Given the description of an element on the screen output the (x, y) to click on. 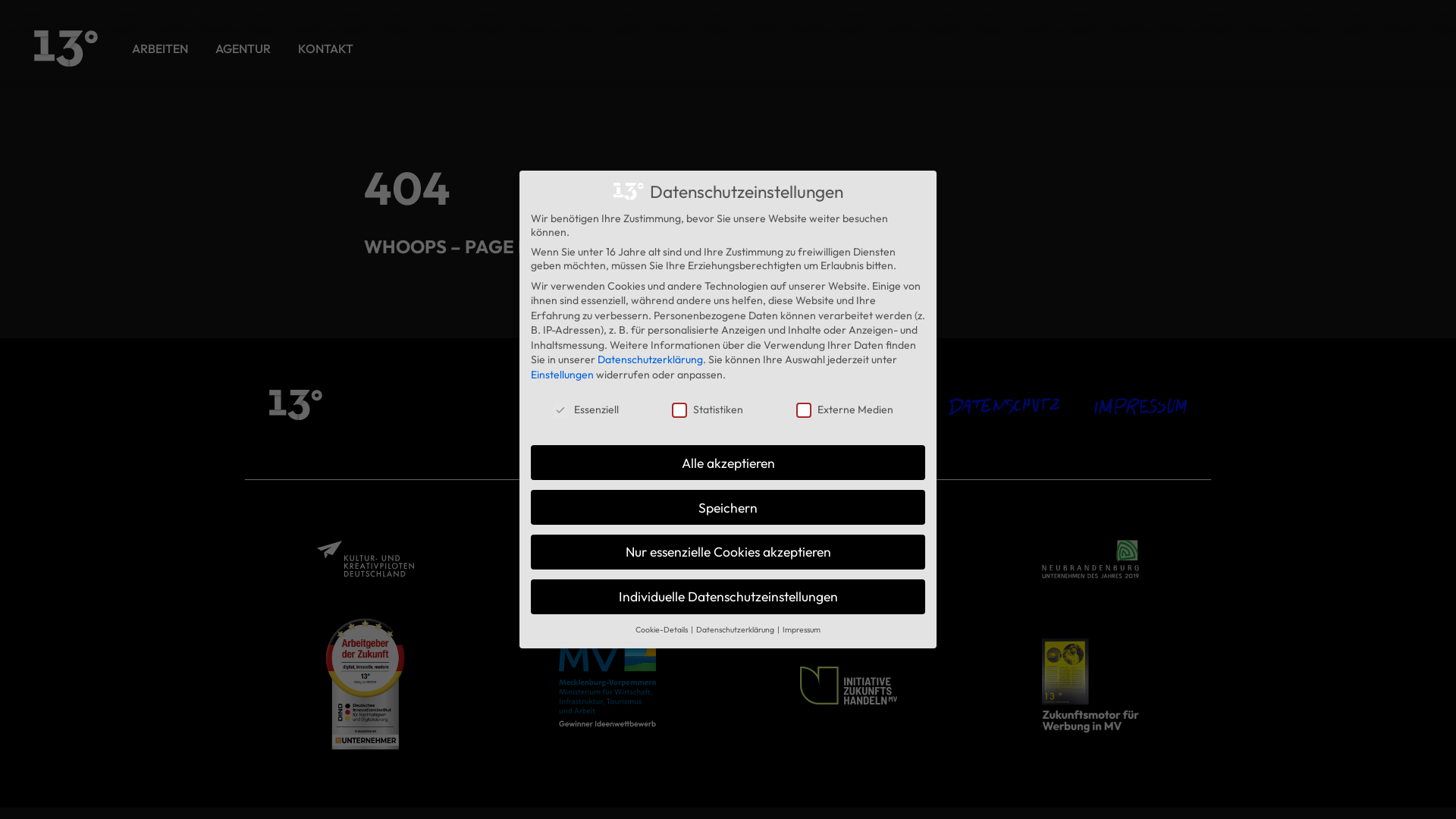
Datenschutz Element type: hover (1002, 406)
Impressum Element type: hover (1140, 405)
KONTAKT Element type: text (325, 48)
Unternehmen des Jahres 2019 Element type: hover (1090, 558)
Kreativmacher MV Element type: hover (848, 558)
Arbeitgeber der Zukunft Element type: hover (365, 685)
Individuelle Datenschutzeinstellungen Element type: text (727, 596)
Mitglied im Zukunftsrat MV Element type: hover (848, 685)
Cookie-Details Element type: text (662, 629)
Kompetenzzentrum Element type: hover (606, 559)
Impressum Element type: hover (1140, 406)
Kreativpiloten Element type: hover (365, 558)
Speichern Element type: text (727, 506)
Einstellungen Element type: text (561, 374)
Nur essenzielle Cookies akzeptieren Element type: text (727, 551)
Impressum Element type: text (801, 629)
Alle akzeptieren Element type: text (727, 462)
AGENTUR Element type: text (242, 48)
Datenschutz Element type: hover (1002, 405)
ARBEITEN Element type: text (159, 48)
